Given the description of an element on the screen output the (x, y) to click on. 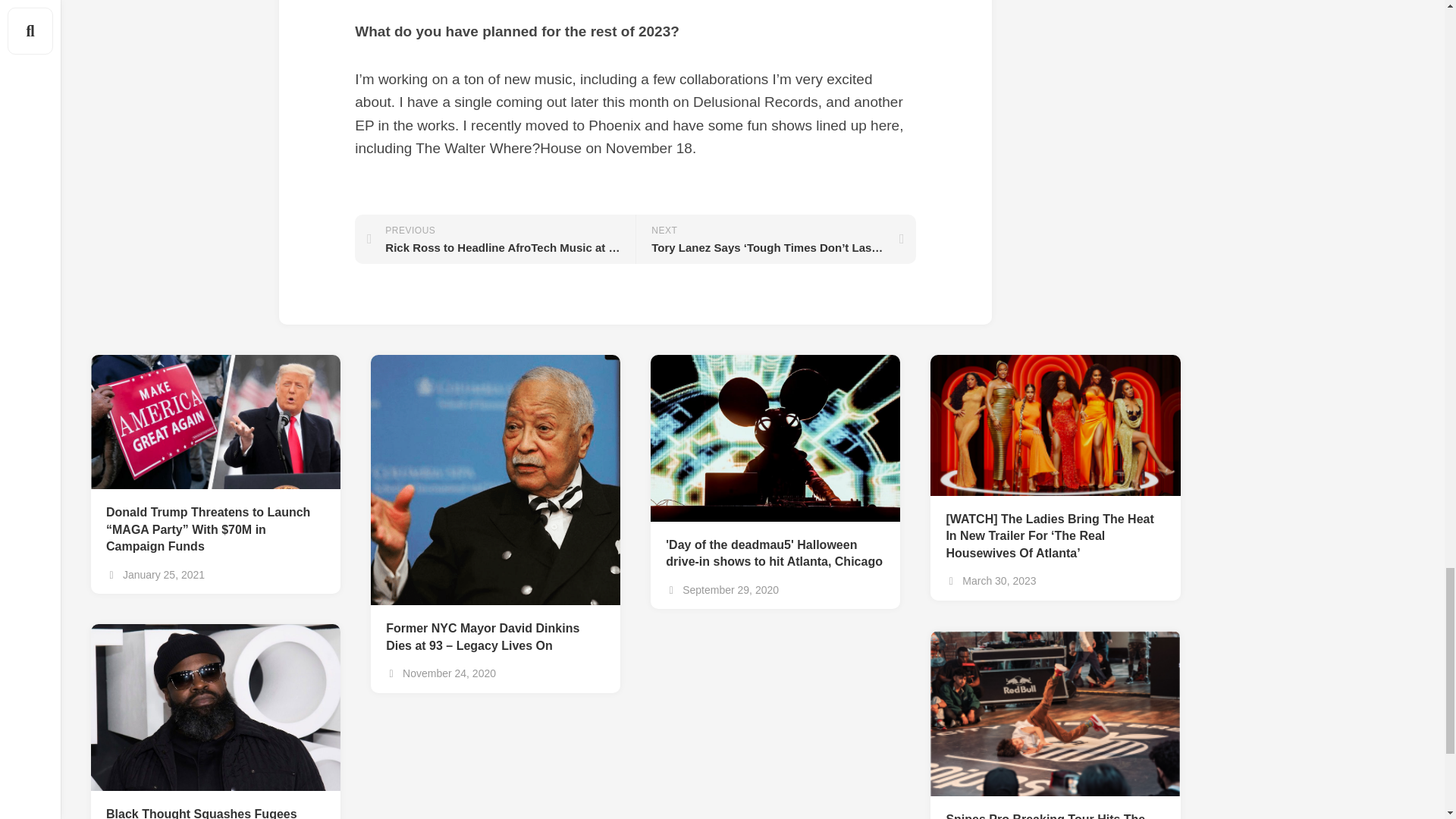
Black Thought Squashes Fugees Verzuz The Roots Rumors (215, 805)
